Given the description of an element on the screen output the (x, y) to click on. 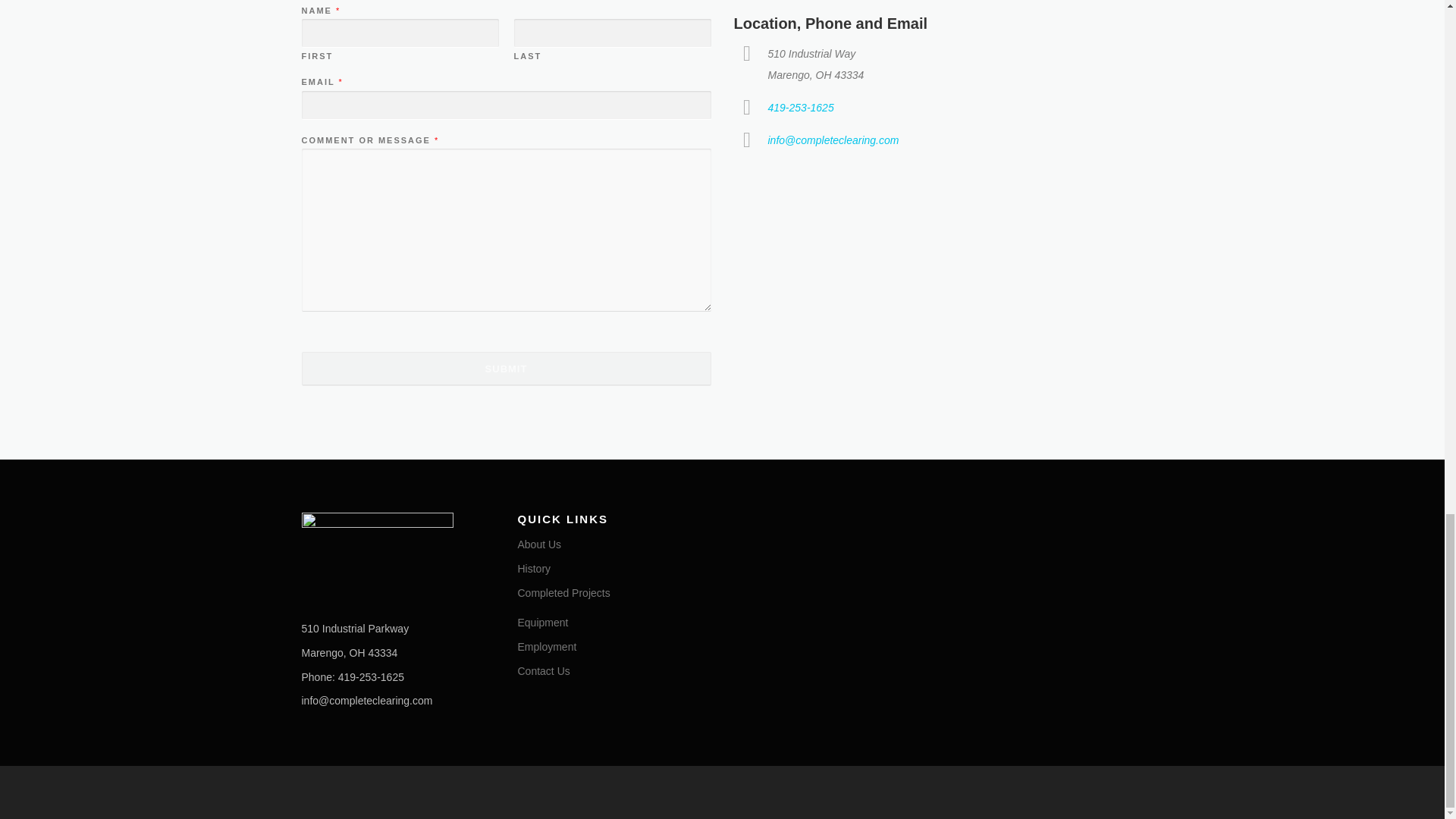
Employment (546, 646)
Completed Projects (563, 592)
History (533, 568)
419-253-1625 (799, 107)
About Us (538, 544)
Contact Us (542, 671)
Equipment (541, 622)
SUBMIT (506, 368)
